Given the description of an element on the screen output the (x, y) to click on. 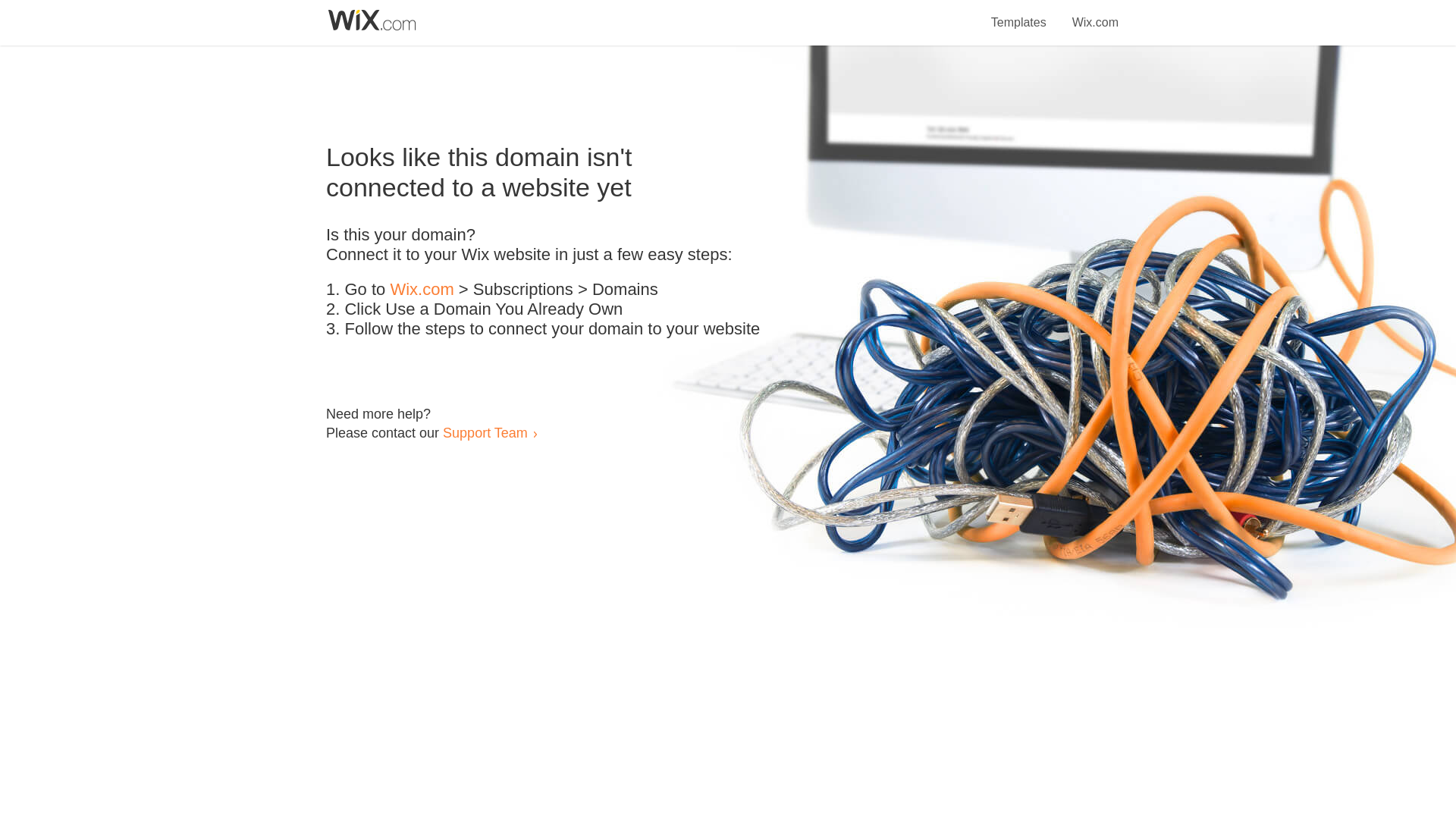
Templates (1018, 14)
Wix.com (1095, 14)
Support Team (484, 432)
Wix.com (421, 289)
